Given the description of an element on the screen output the (x, y) to click on. 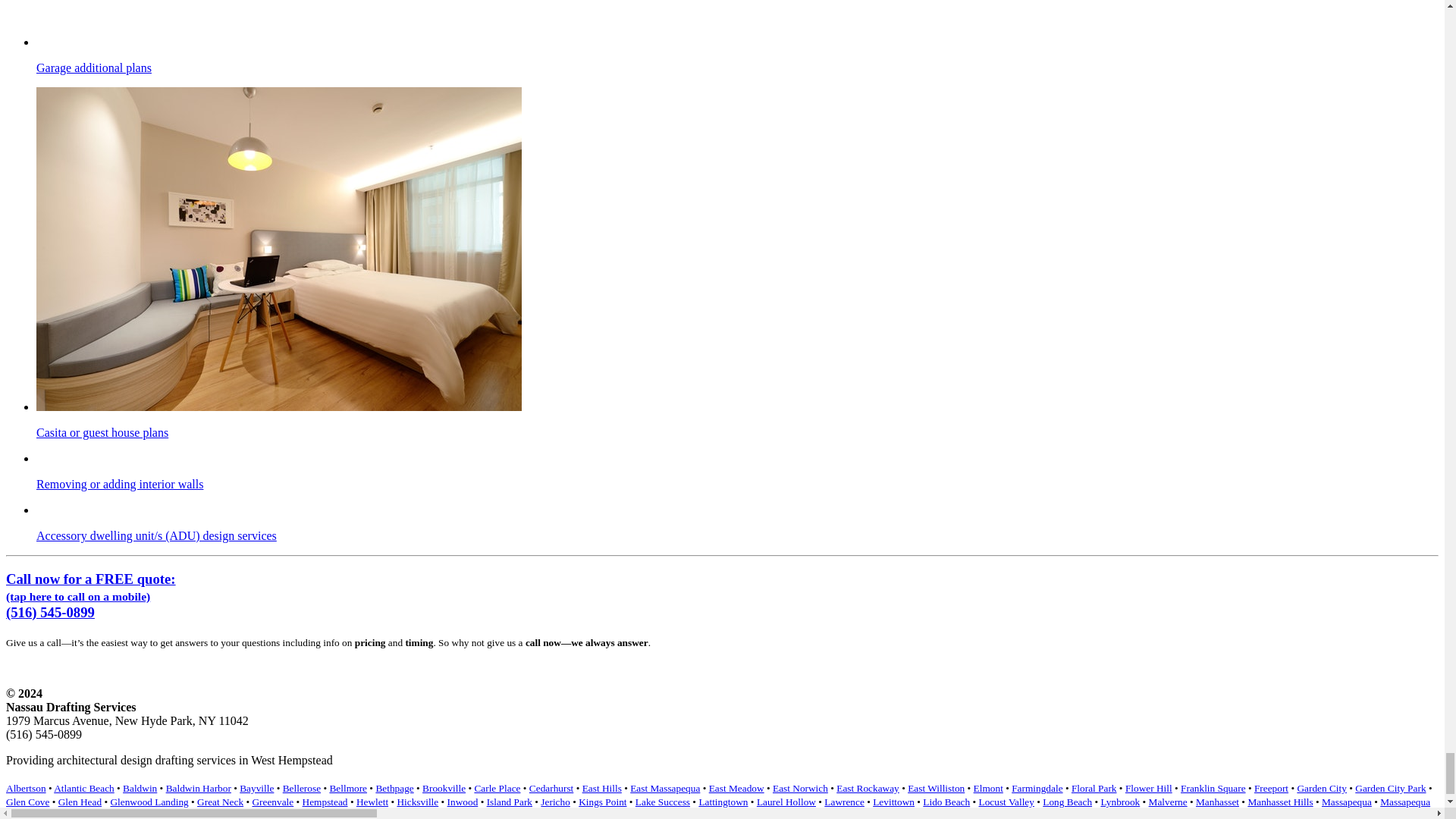
Elmont (988, 787)
East Hills (601, 787)
Removing or adding interior walls (737, 471)
East Williston (935, 787)
East Massapequa (665, 787)
Baldwin Harbor (198, 787)
Bethpage (394, 787)
East Rockaway (867, 787)
Atlantic Beach (84, 787)
